Given the description of an element on the screen output the (x, y) to click on. 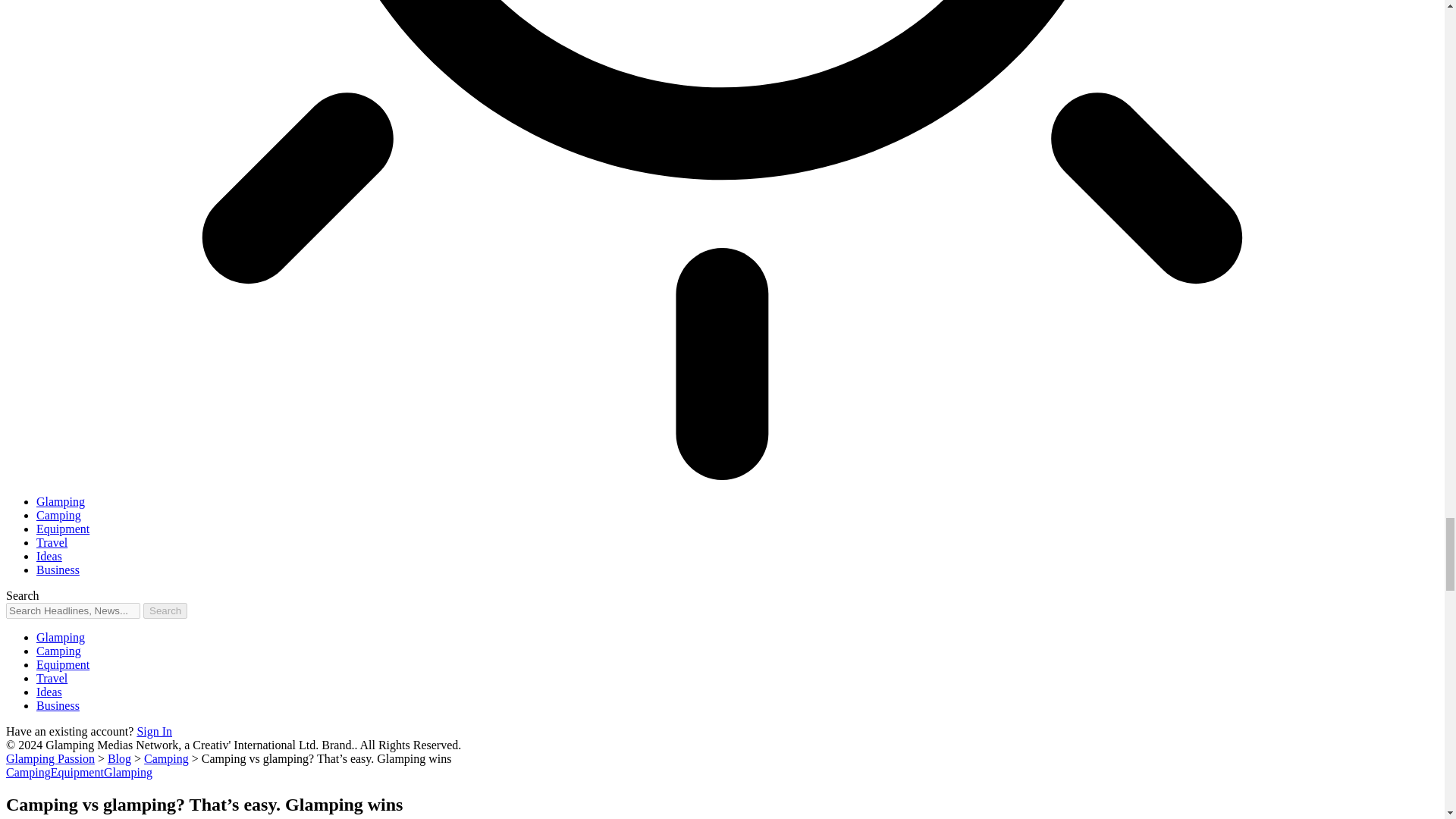
Glamping (60, 501)
Go to Blog. (119, 758)
Search (164, 610)
Camping (58, 514)
Go to Glamping Passion. (49, 758)
Go to the Camping Category archives. (166, 758)
